Given the description of an element on the screen output the (x, y) to click on. 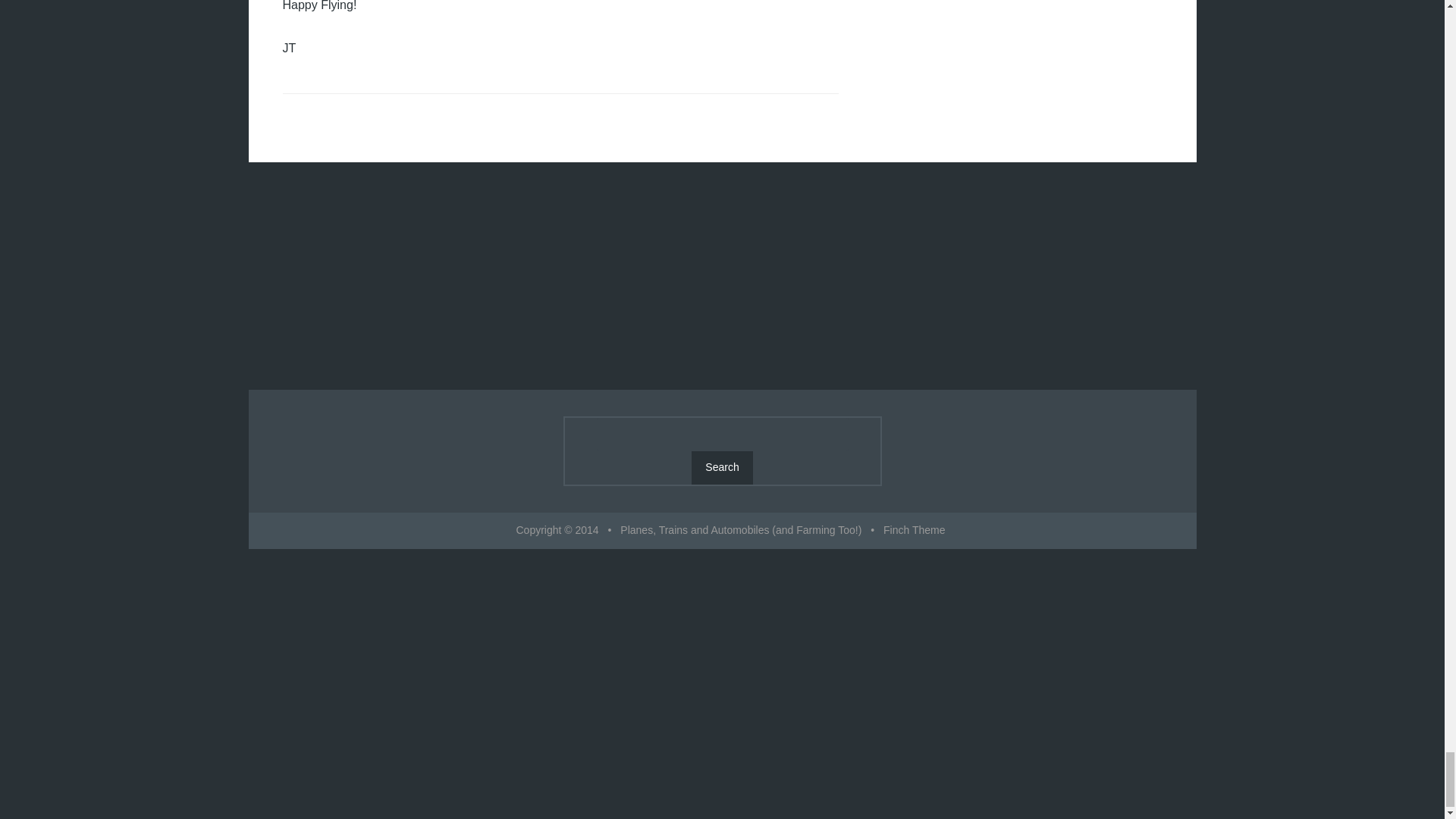
Search (721, 467)
Search (721, 467)
Finch WordPress Theme (913, 530)
